Given the description of an element on the screen output the (x, y) to click on. 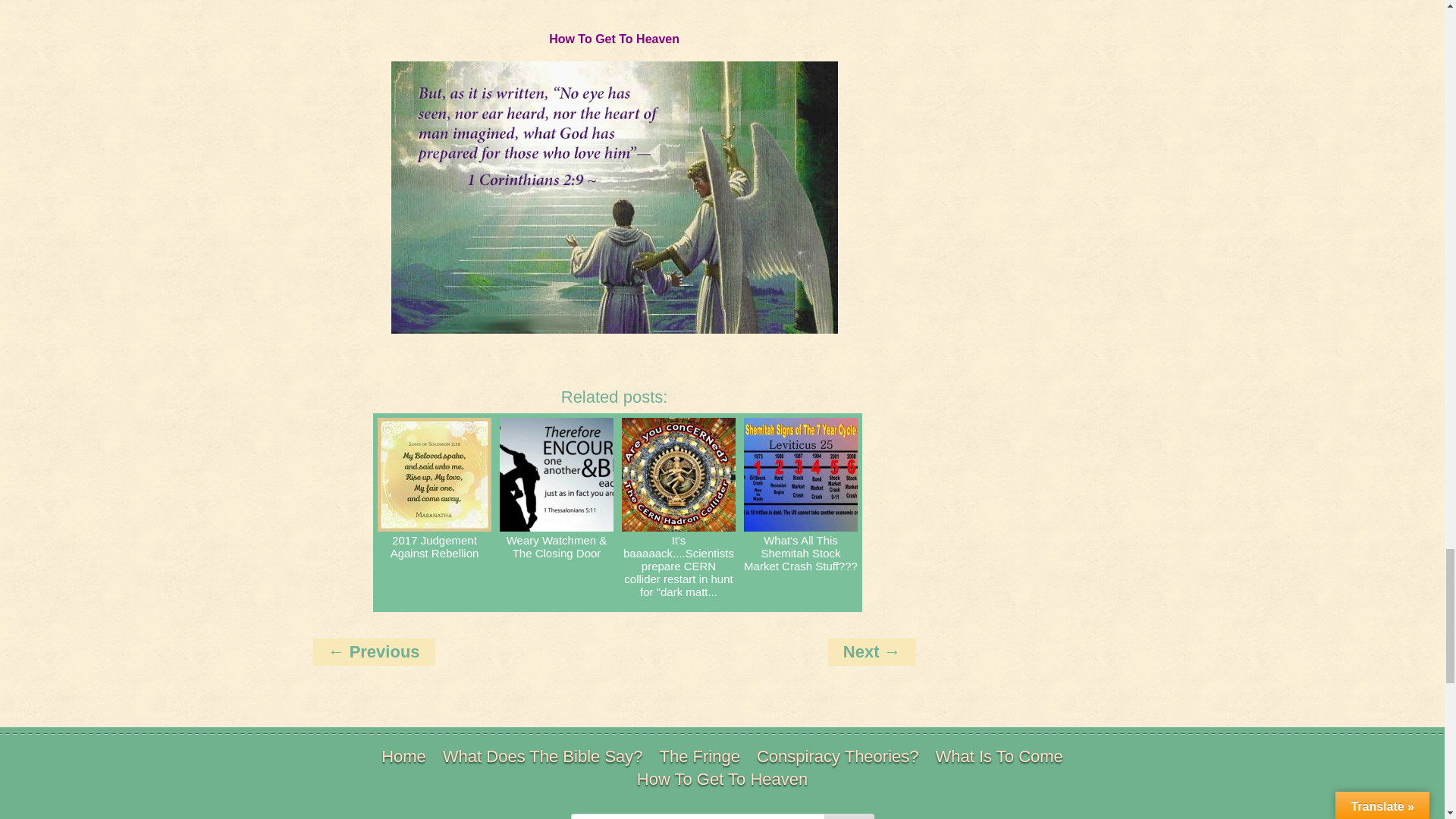
Search (848, 816)
How To Get To Heaven (613, 38)
What's All This Shemitah Stock Market Crash Stuff??? (800, 512)
Search (848, 816)
2017 Judgement Against Rebellion (434, 512)
